Given the description of an element on the screen output the (x, y) to click on. 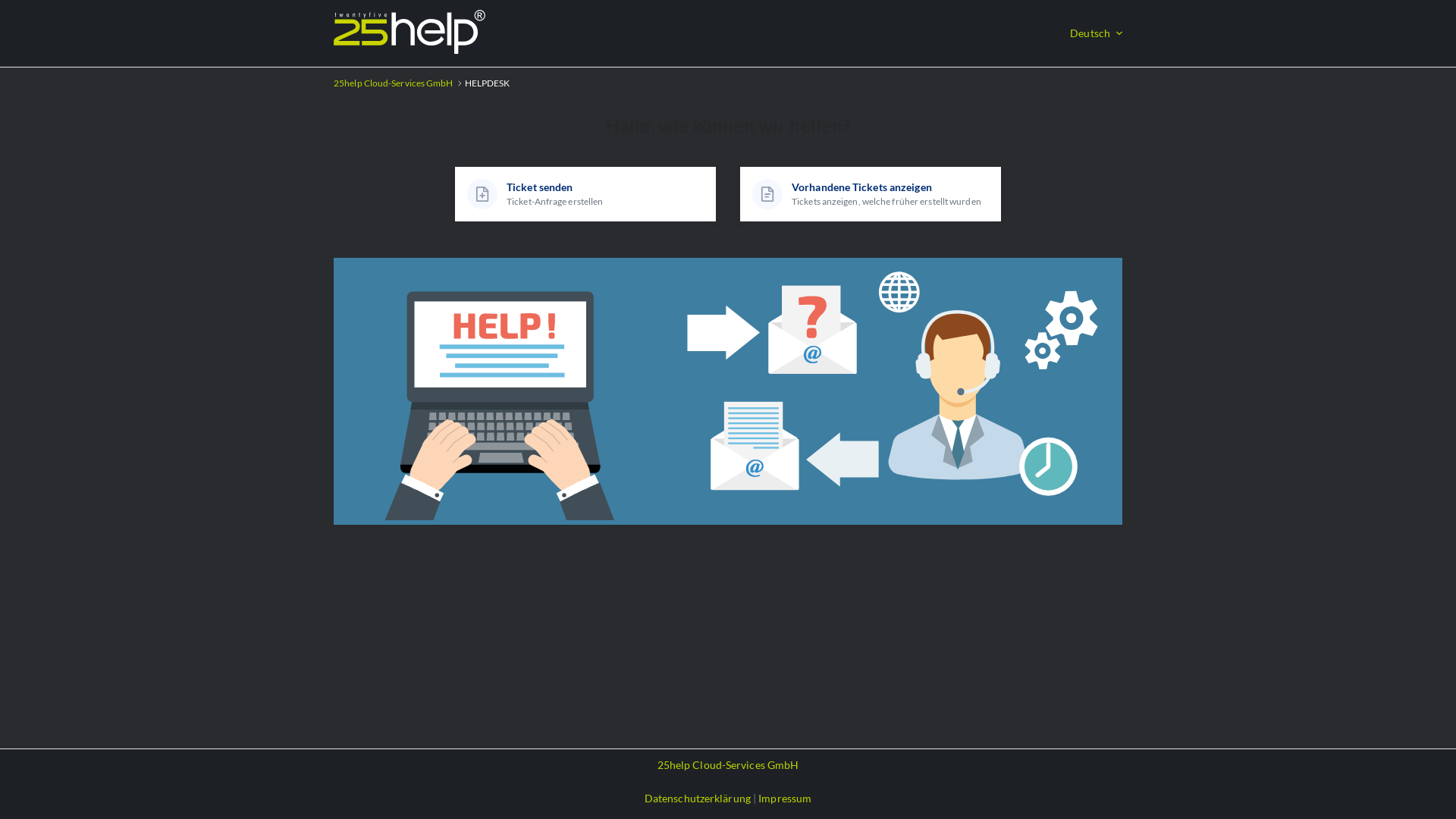
25help Cloud-Services GmbH Element type: text (727, 764)
Ticket senden
Ticket-Anfrage erstellen Element type: text (585, 193)
Impressum Element type: text (784, 797)
25help Cloud-Services GmbH Element type: text (393, 83)
